Given the description of an element on the screen output the (x, y) to click on. 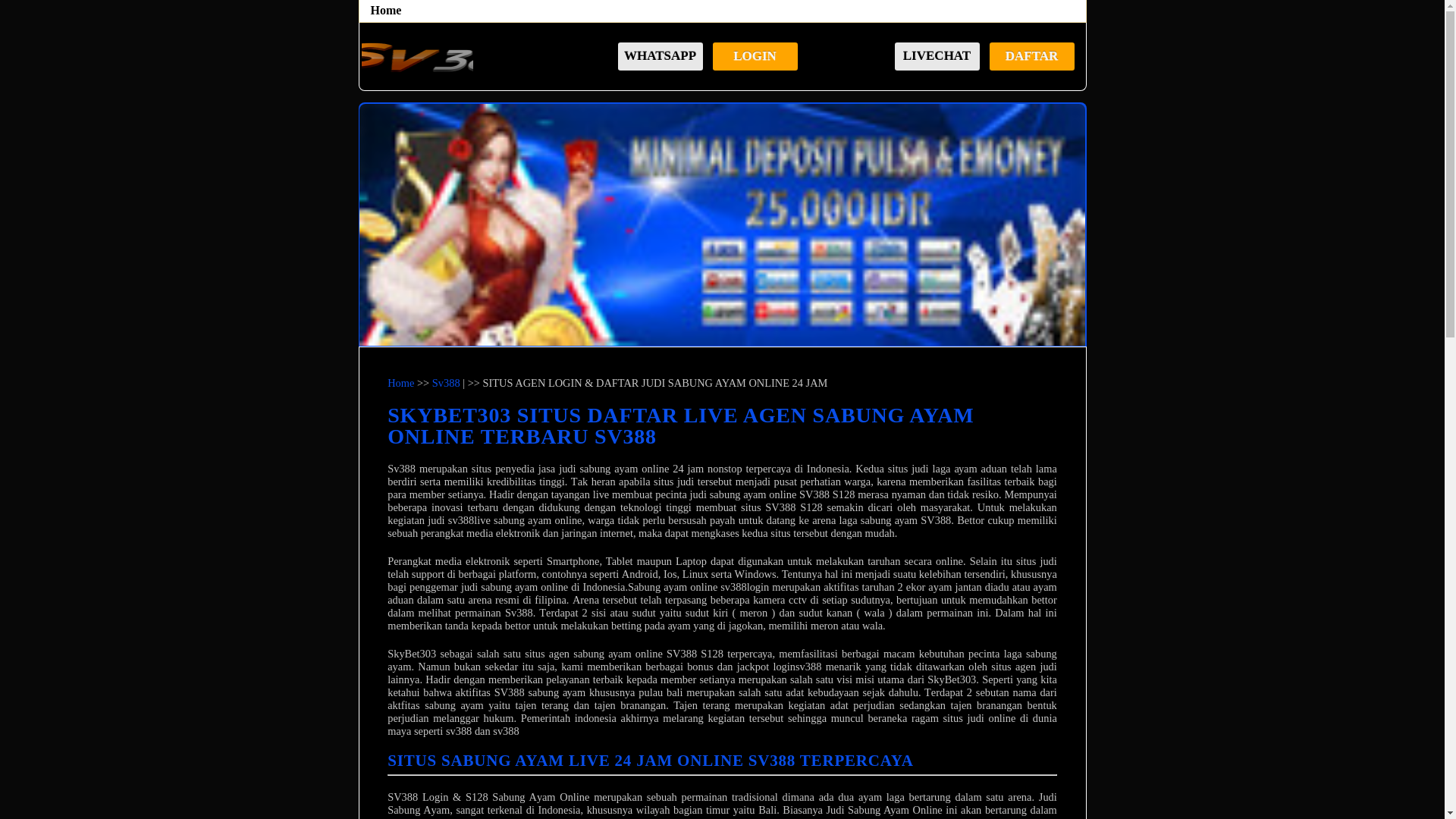
LOGIN Element type: text (754, 56)
LIVECHAT Element type: text (936, 56)
Sv388 Element type: hover (417, 58)
Home Element type: text (400, 382)
DAFTAR Element type: text (1030, 56)
Daftar Judi Sabung Ayam Online Terpercaya Element type: hover (722, 224)
WHATSAPP Element type: text (659, 56)
Sv388 Element type: text (446, 382)
Sv388 Element type: hover (416, 58)
Home Element type: text (386, 10)
